Given the description of an element on the screen output the (x, y) to click on. 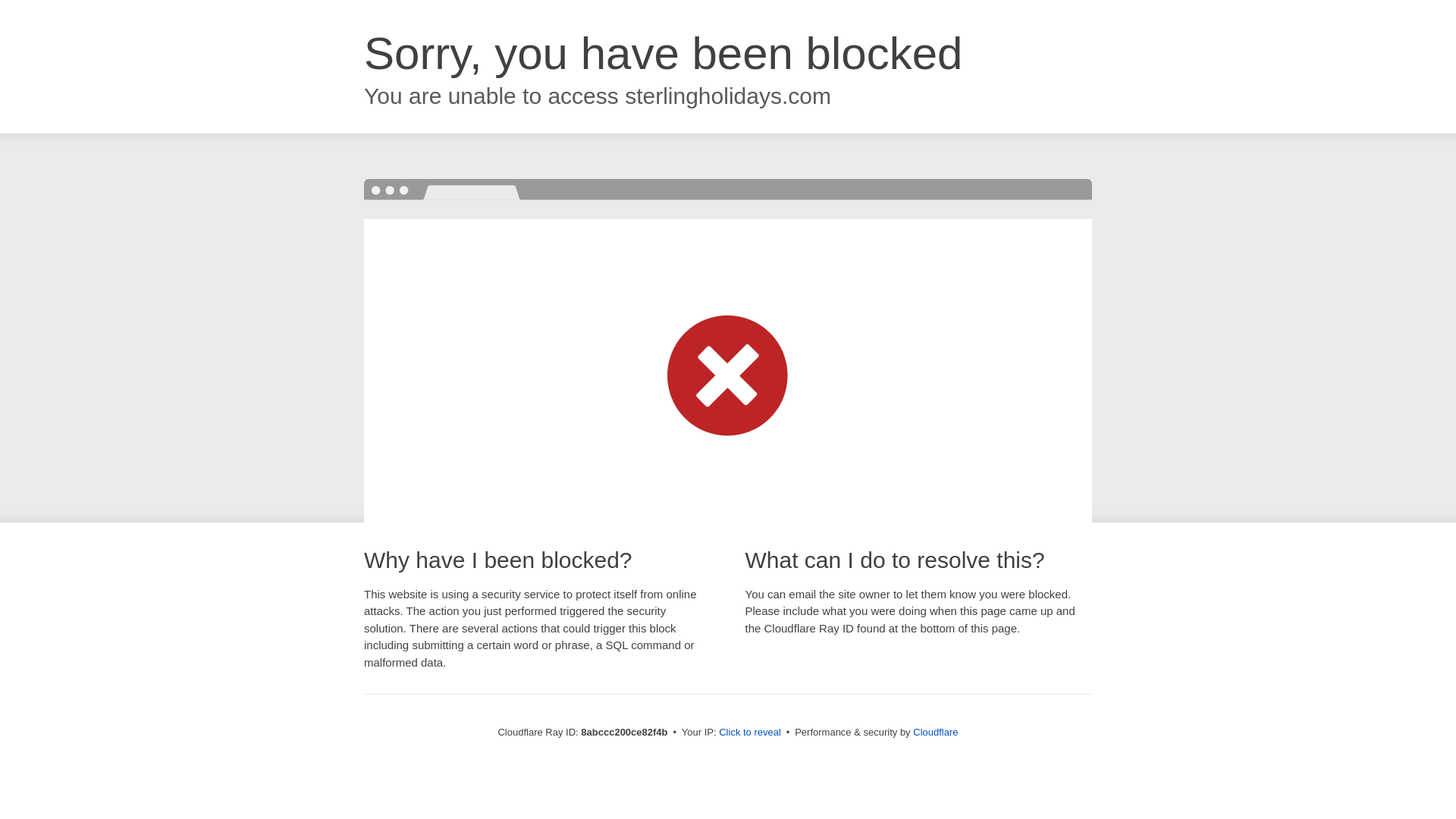
Click to reveal (749, 732)
Cloudflare (935, 731)
